Given the description of an element on the screen output the (x, y) to click on. 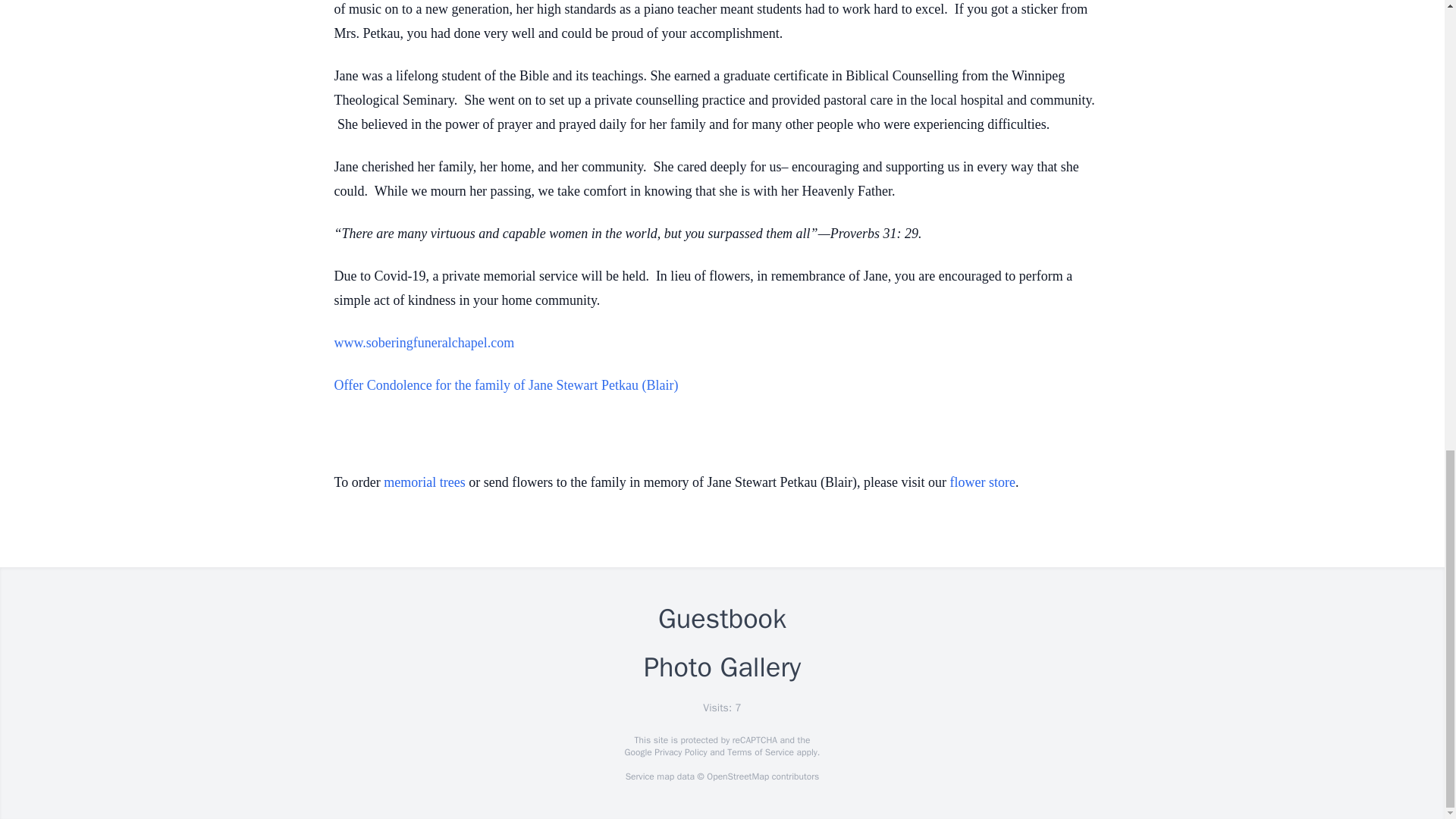
OpenStreetMap (737, 776)
Privacy Policy (679, 752)
memorial trees (424, 482)
Terms of Service (759, 752)
flower store (982, 482)
www.soberingfuneralchapel.com (423, 342)
